Given the description of an element on the screen output the (x, y) to click on. 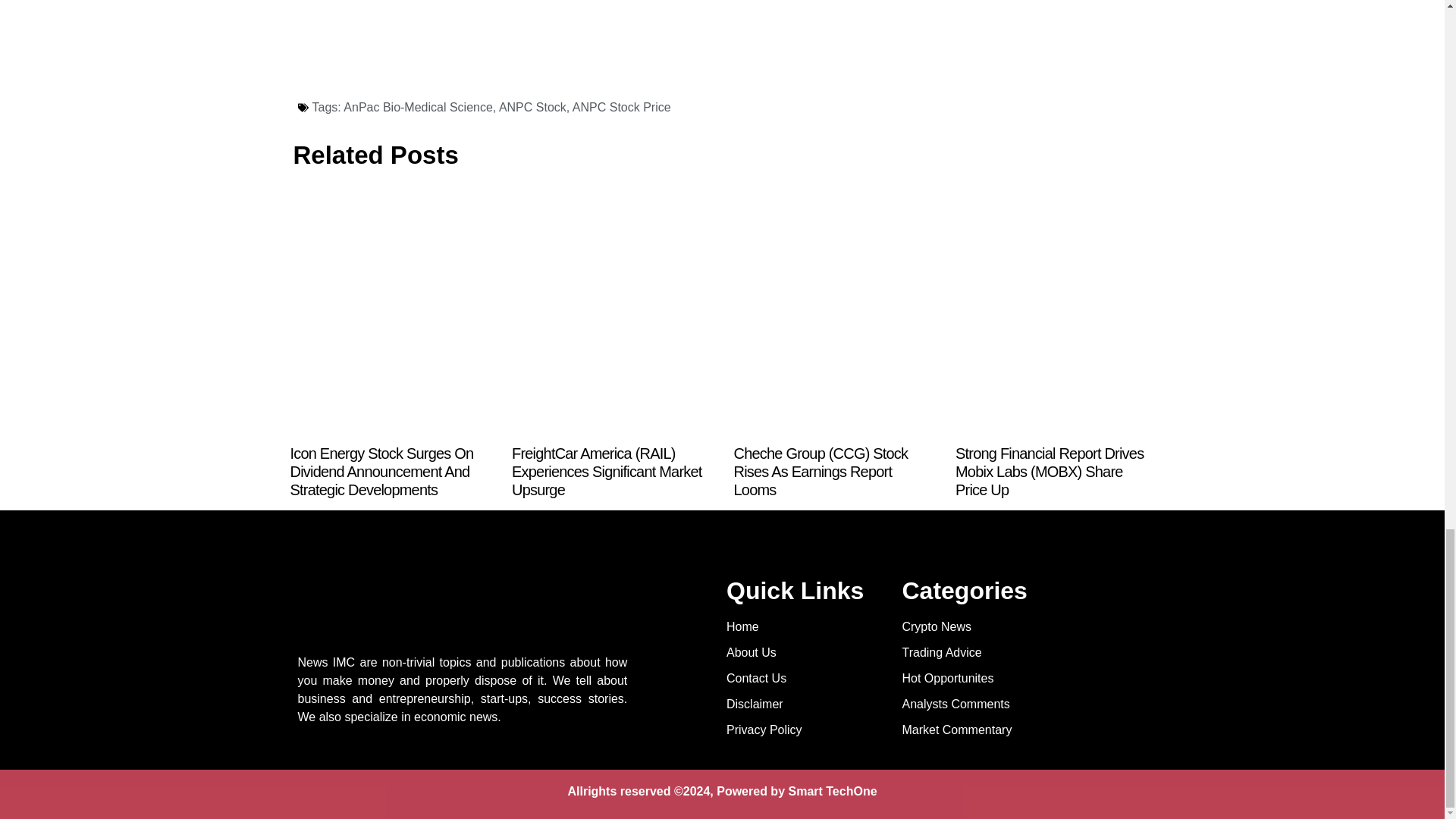
ANPC Stock Price (621, 106)
ANPC Stock (532, 106)
Advertisement (576, 41)
AnPac Bio-Medical Science (418, 106)
